Given the description of an element on the screen output the (x, y) to click on. 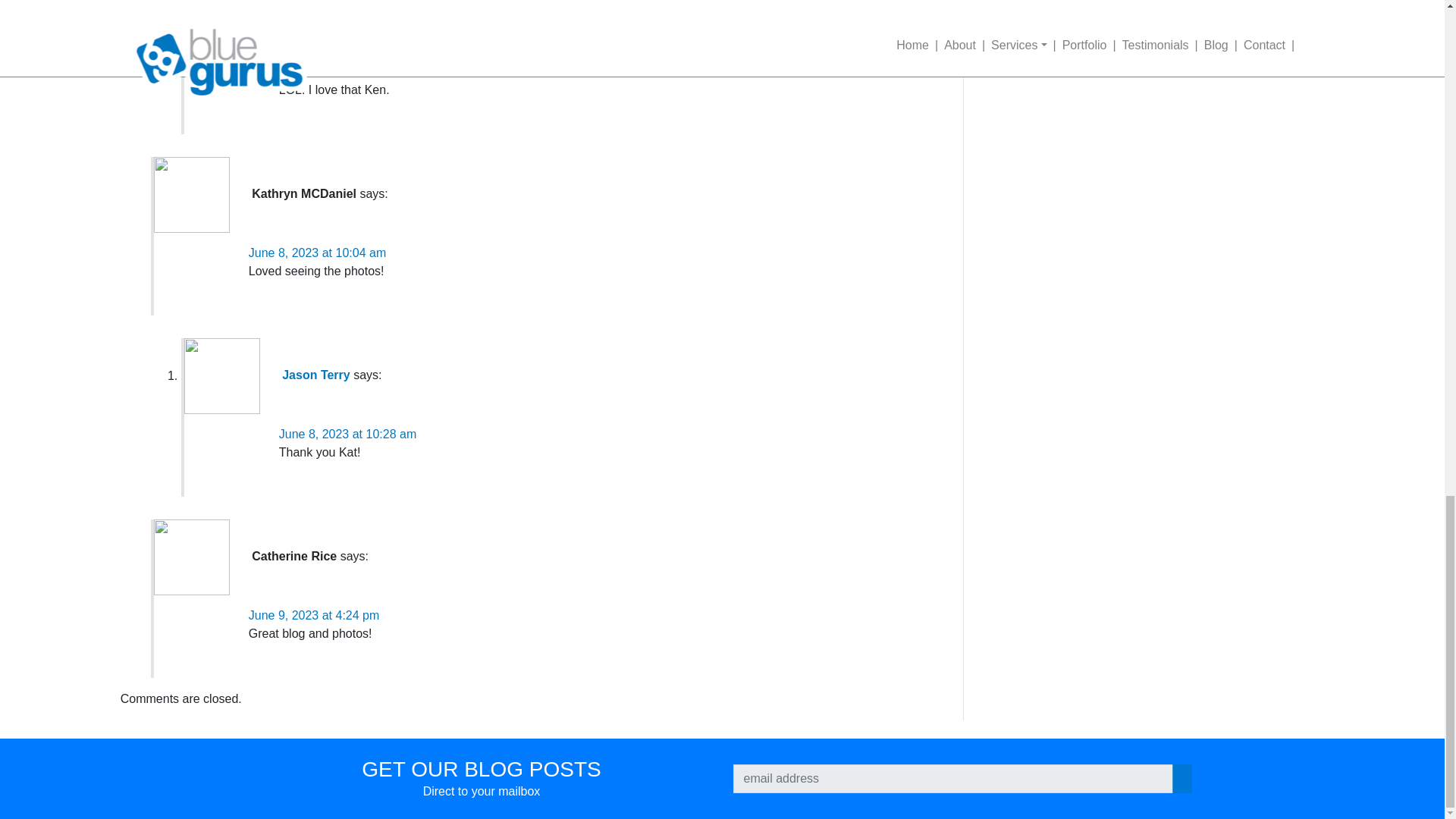
June 8, 2023 at 10:28 am (347, 433)
Jason Terry (316, 375)
Jason Terry (316, 12)
June 8, 2023 at 10:29 am (347, 71)
June 8, 2023 at 10:04 am (316, 252)
